Given the description of an element on the screen output the (x, y) to click on. 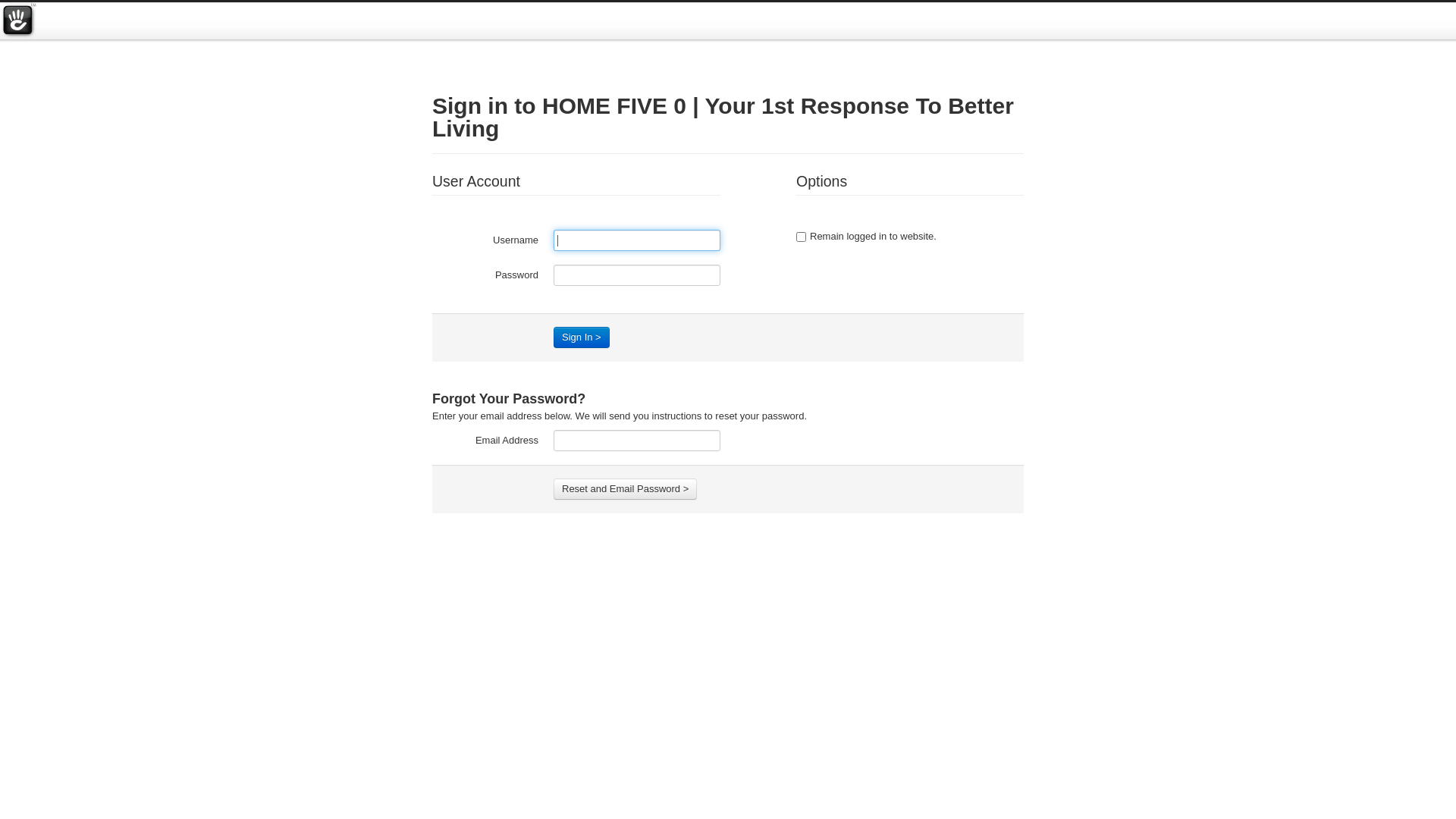
Reset and Email Password > Element type: text (624, 488)
Sign In > Element type: text (581, 337)
concrete5 Element type: hover (18, 20)
